Given the description of an element on the screen output the (x, y) to click on. 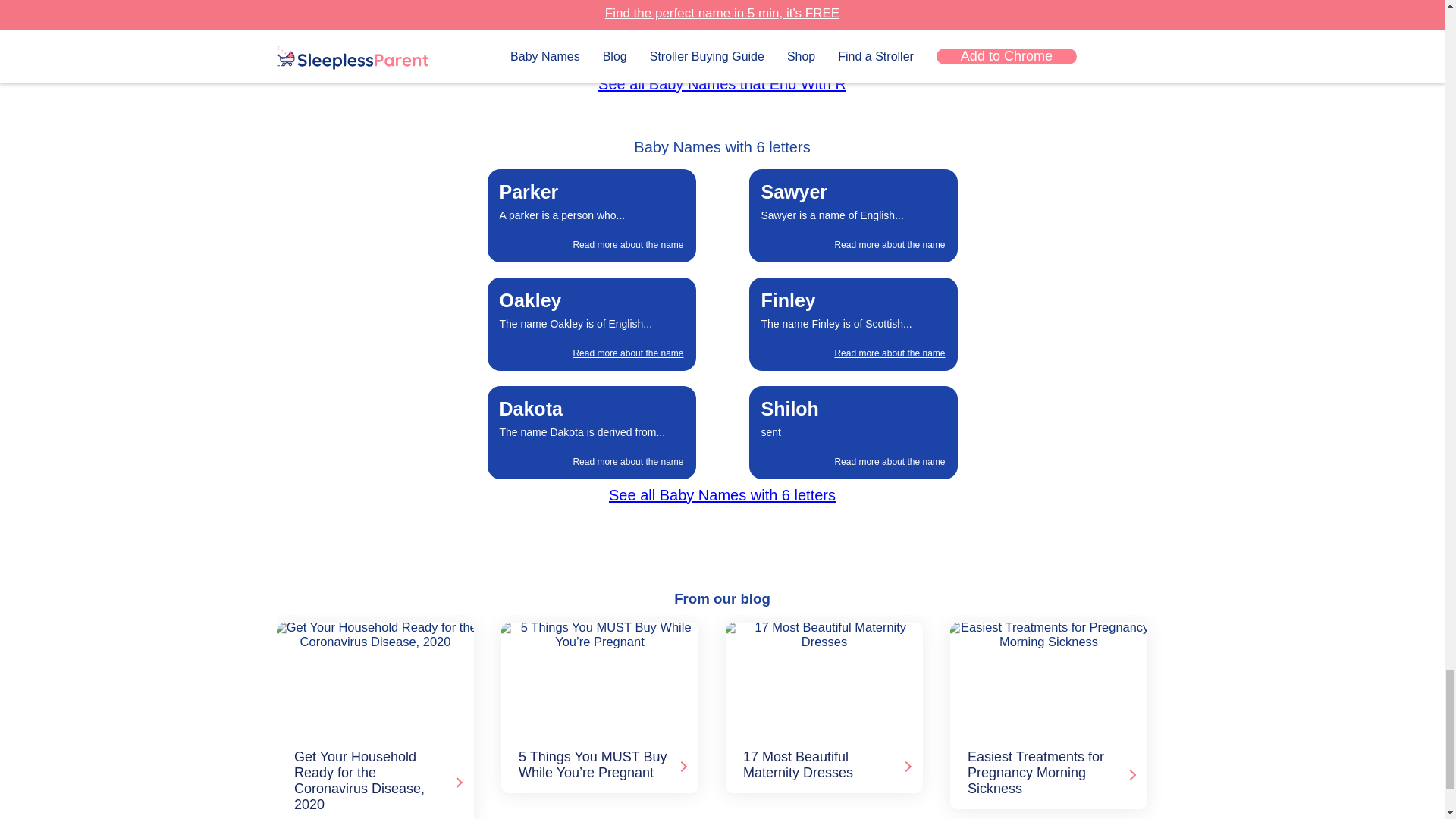
Get Your Household Ready for the Coronavirus Disease, 2020 (371, 677)
Easiest Treatments for Pregnancy Morning Sickness (1045, 677)
17 Most Beautiful Maternity Dresses (821, 677)
